Given the description of an element on the screen output the (x, y) to click on. 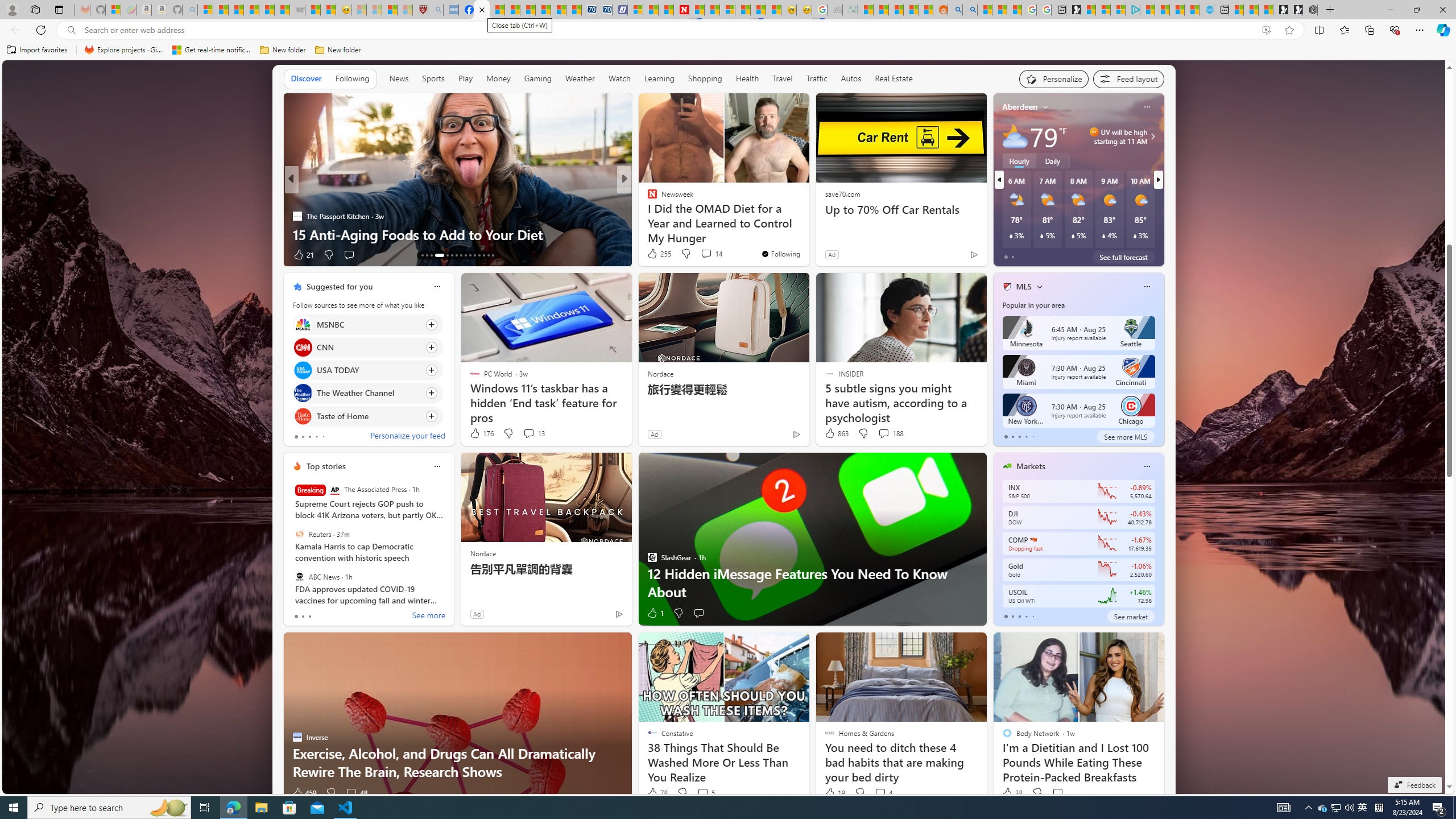
More interests (1039, 286)
AutomationID: tab-77 (478, 255)
Click to follow source MSNBC (367, 324)
176 Like (480, 433)
459 Like (303, 792)
Hourly (1018, 160)
NASDAQ (1032, 539)
Utah sues federal government - Search (970, 9)
